Given the description of an element on the screen output the (x, y) to click on. 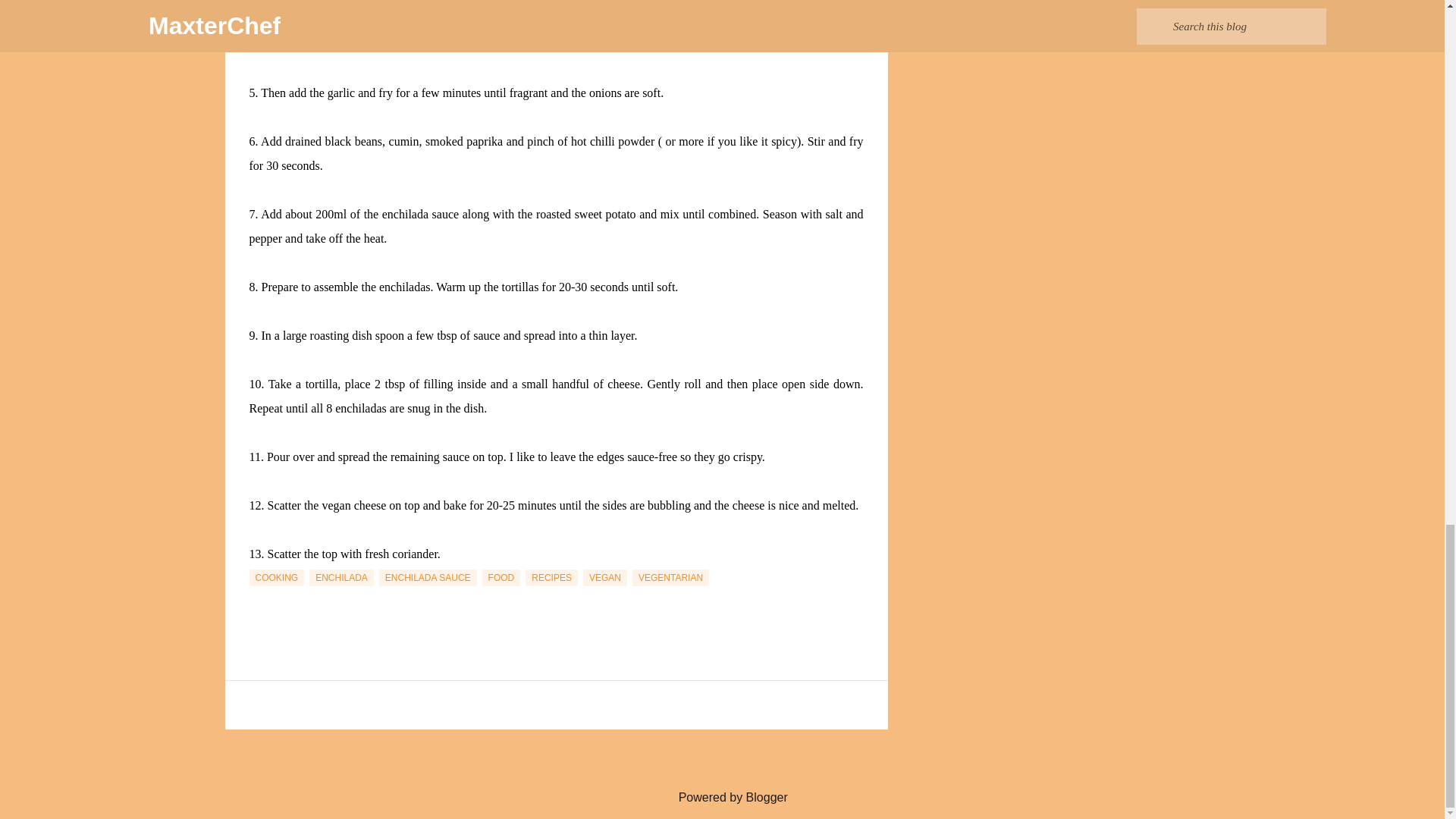
RECIPES (551, 577)
VEGENTARIAN (670, 577)
FOOD (501, 577)
Powered by Blogger (721, 797)
VEGAN (605, 577)
ENCHILADA SAUCE (427, 577)
COOKING (276, 577)
ENCHILADA (341, 577)
